Given the description of an element on the screen output the (x, y) to click on. 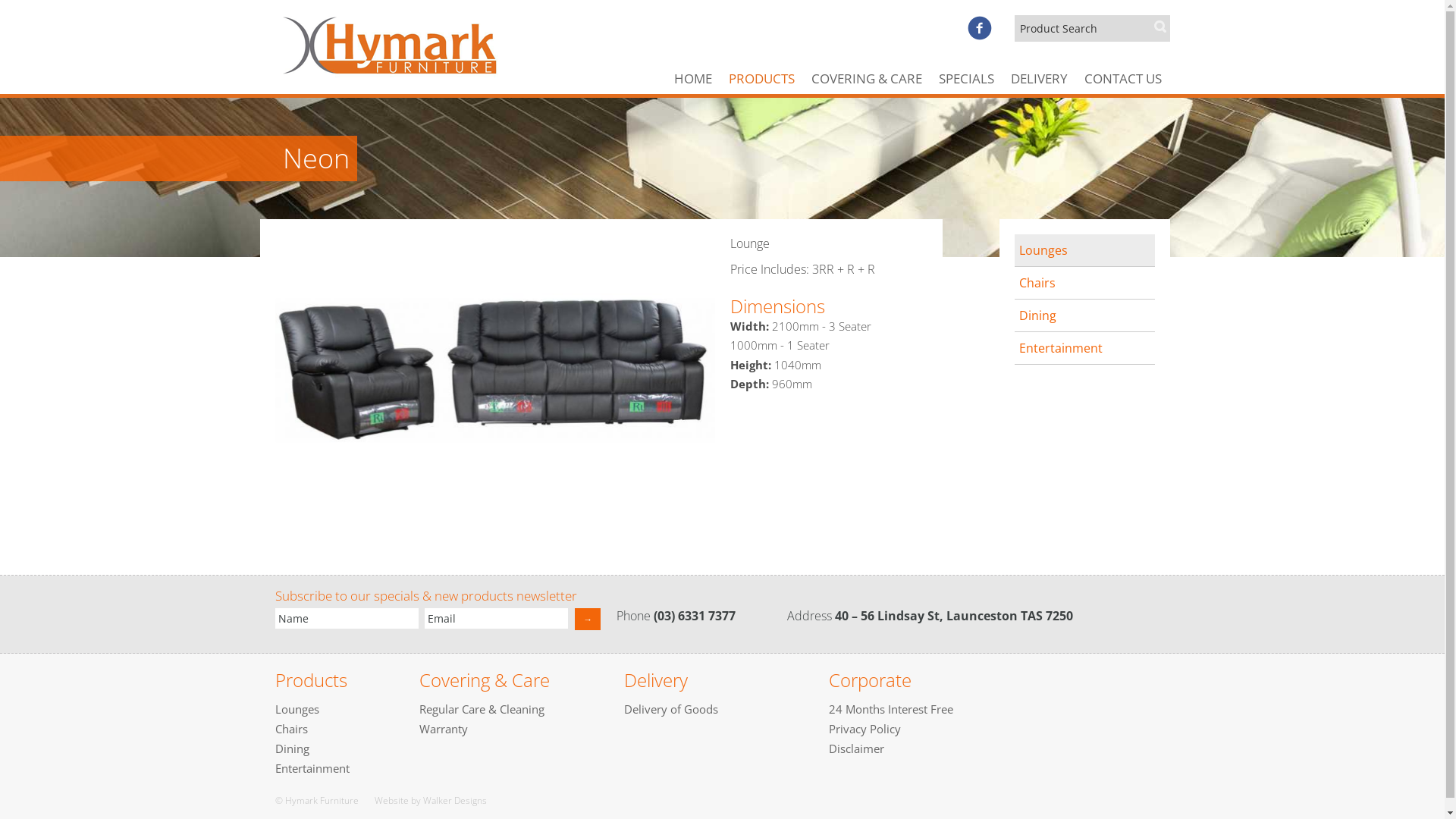
HOME Element type: text (692, 78)
PRODUCTS Element type: text (761, 78)
Dining Element type: text (291, 748)
Dining Element type: text (1084, 315)
Disclaimer Element type: text (855, 748)
Entertainment Element type: text (1084, 347)
Hymark Furniture Launceston Element type: hover (408, 39)
SEARCH Element type: text (1160, 26)
CONTACT US Element type: text (1122, 78)
DELIVERY Element type: text (1039, 78)
Covering & Care Element type: text (483, 679)
Regular Care & Cleaning Element type: text (480, 708)
Lounges Element type: text (1084, 249)
Products Element type: text (310, 679)
Delivery of Goods Element type: text (670, 708)
Warranty Element type: text (442, 728)
Delivery Element type: text (655, 679)
SPECIALS Element type: text (965, 78)
24 Months Interest Free Element type: text (890, 708)
Chairs Element type: text (1084, 282)
Email Element type: hover (495, 618)
COVERING & CARE Element type: text (865, 78)
Walker Designs Element type: text (454, 799)
Entertainment Element type: text (311, 767)
Privacy Policy Element type: text (864, 728)
Corporate Element type: text (869, 679)
Chairs Element type: text (290, 728)
Name Element type: hover (345, 618)
Product Search Element type: hover (1092, 28)
Lounges Element type: text (296, 708)
